Given the description of an element on the screen output the (x, y) to click on. 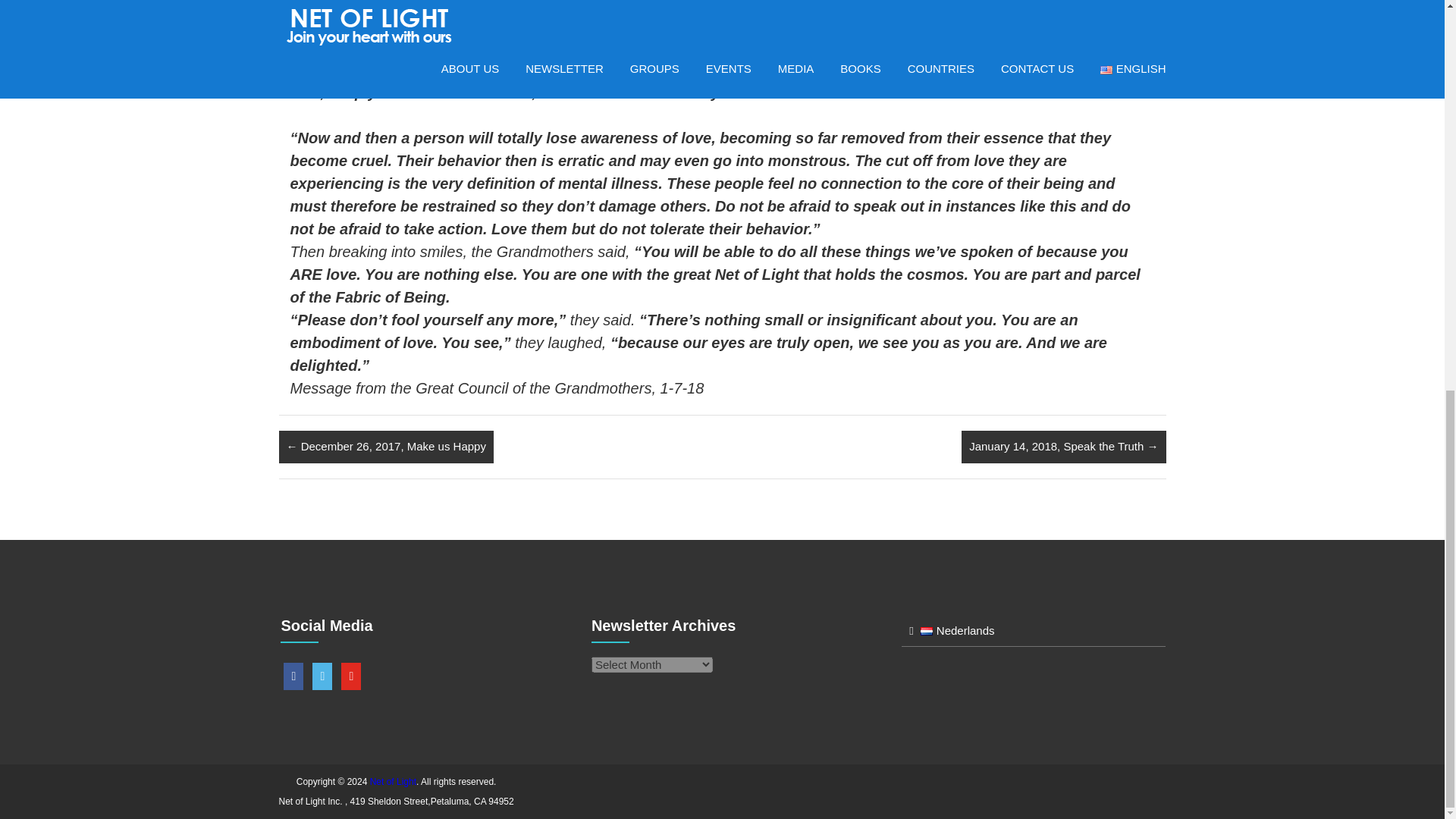
Net of Light (392, 780)
Nederlands (957, 630)
Net of Light (392, 780)
